Given the description of an element on the screen output the (x, y) to click on. 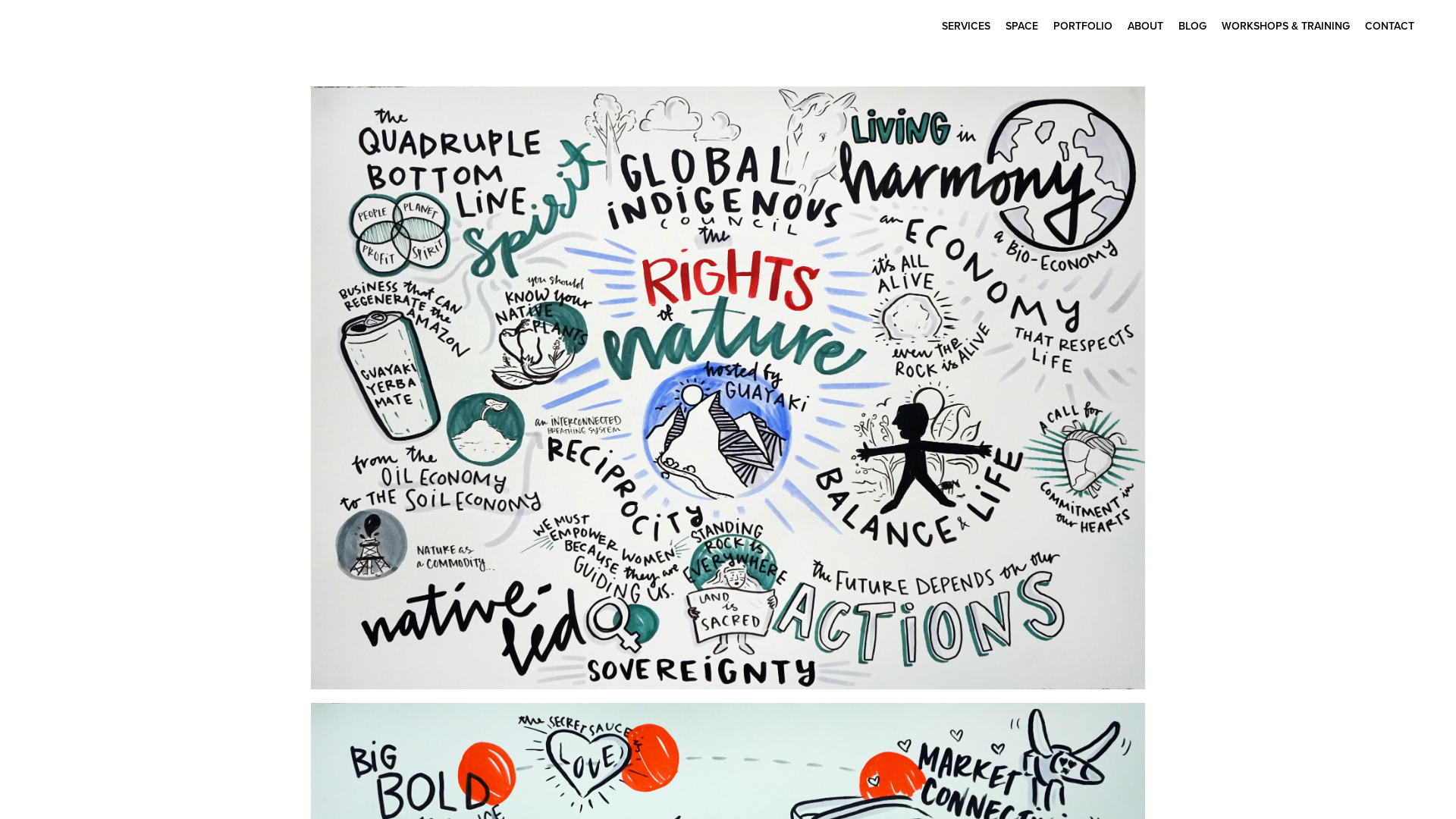
13_Nexus 2018 Global Summit Element type: hover (727, 387)
SERVICES Element type: text (965, 26)
ABOUT Element type: text (1145, 26)
BLOG Element type: text (1192, 26)
WORKSHOPS & TRAINING Element type: text (1285, 26)
CONTACT Element type: text (1389, 26)
SPACE Element type: text (1021, 26)
PORTFOLIO Element type: text (1082, 26)
